Given the description of an element on the screen output the (x, y) to click on. 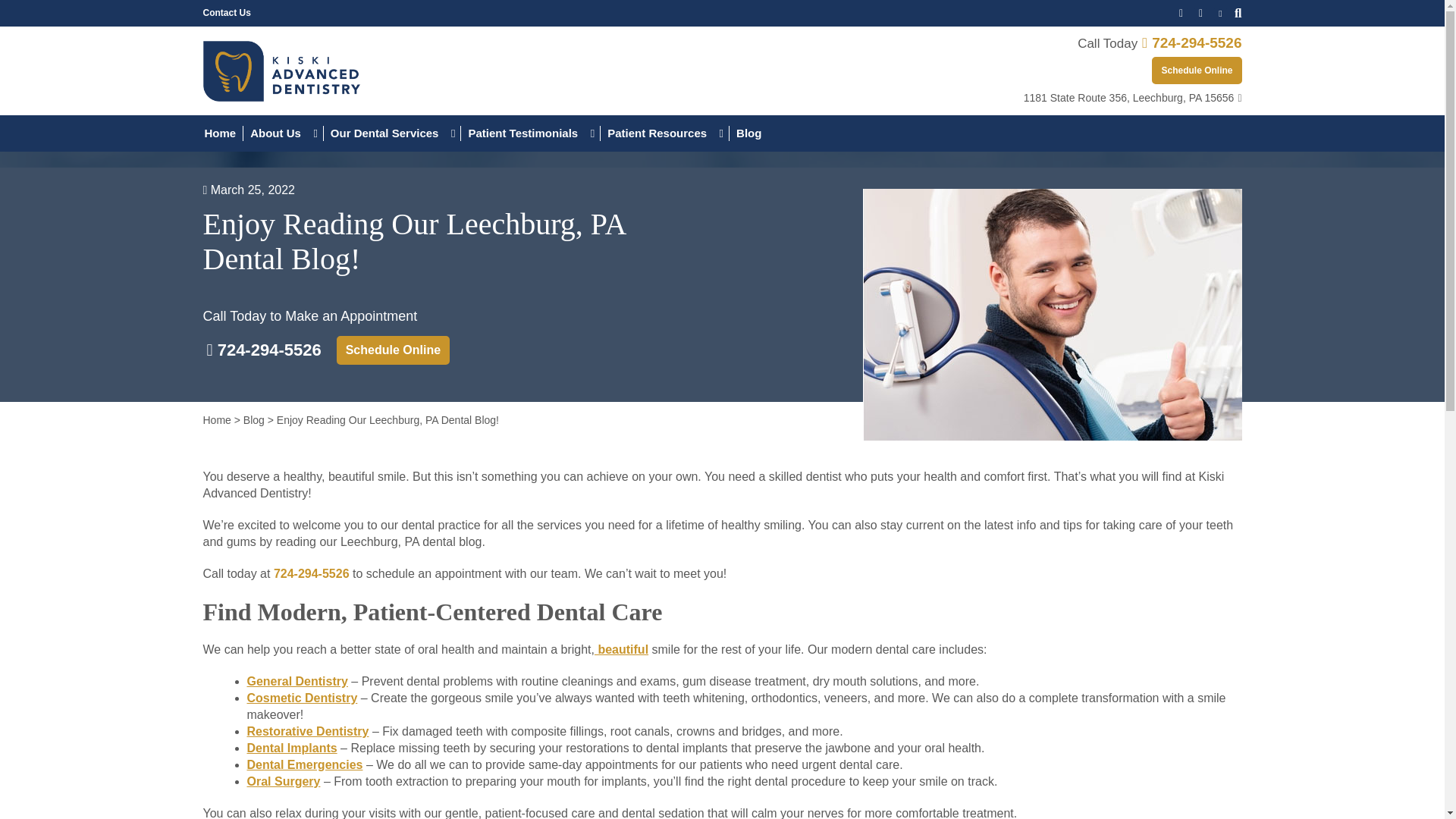
Search Input (1237, 12)
